Given the description of an element on the screen output the (x, y) to click on. 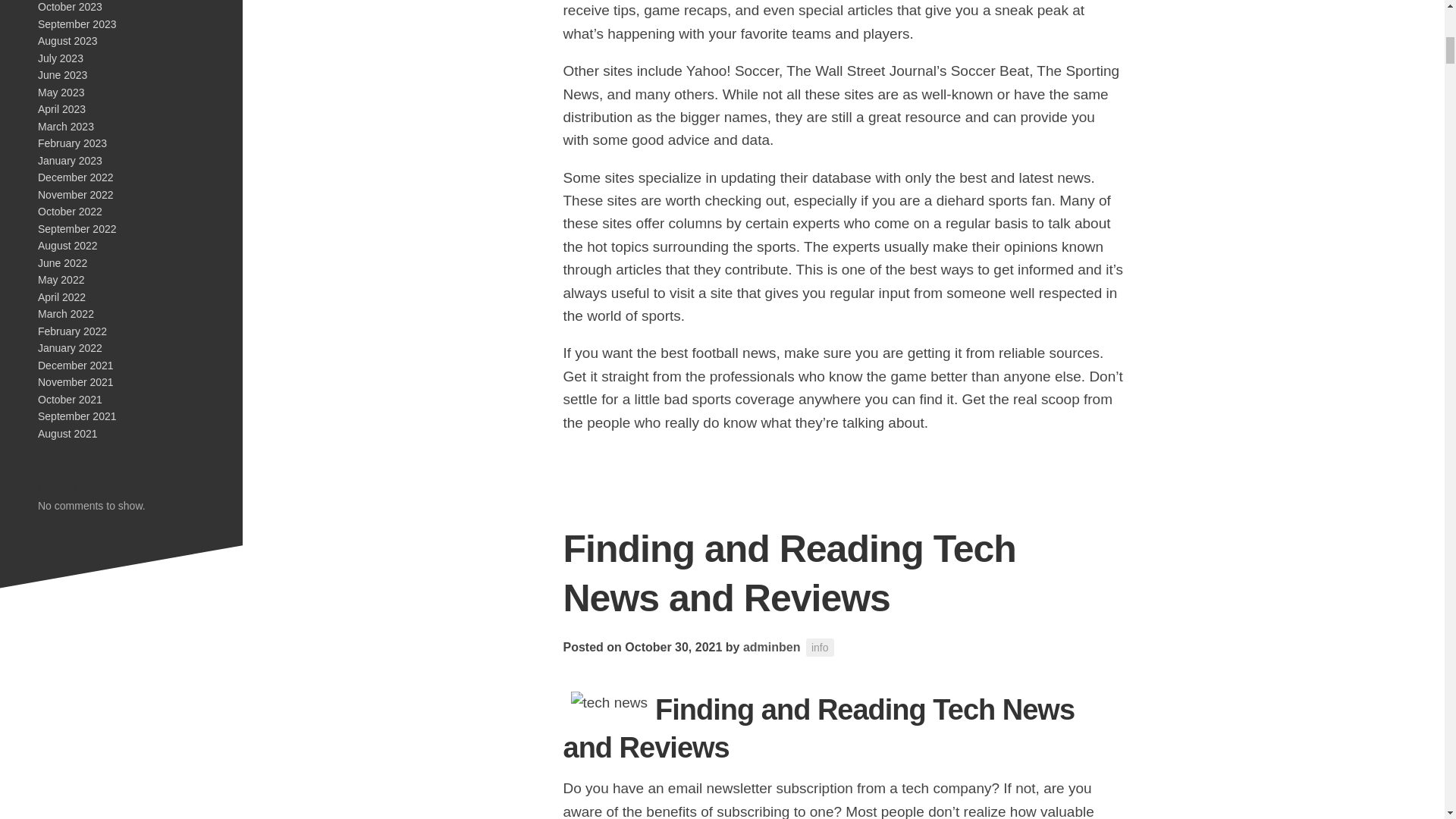
info (820, 647)
adminben (771, 646)
Finding and Reading Tech News and Reviews (788, 573)
Posts by adminben (771, 646)
